Given the description of an element on the screen output the (x, y) to click on. 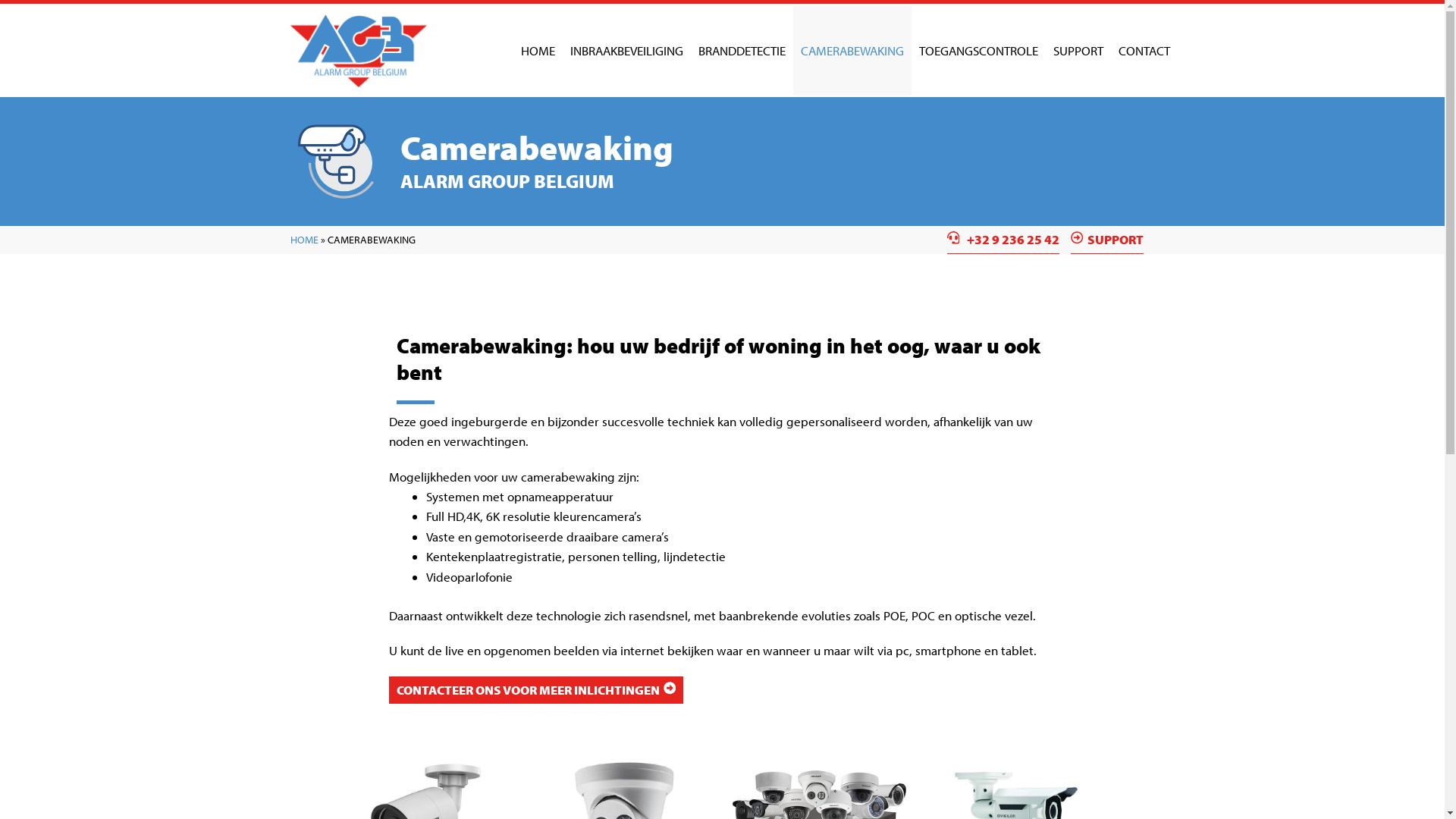
CONTACT Element type: text (1143, 50)
TOEGANGSCONTROLE Element type: text (978, 50)
SUPPORT Element type: text (1106, 239)
CAMERABEWAKING Element type: text (852, 50)
BRANDDETECTIE Element type: text (741, 50)
INBRAAKBEVEILIGING Element type: text (626, 50)
HOME Element type: text (303, 239)
HOME Element type: text (536, 50)
CONTACTEER ONS VOOR MEER INLICHTINGEN Element type: text (535, 690)
SUPPORT Element type: text (1077, 50)
+32 9 236 25 42 Element type: text (1002, 239)
